Given the description of an element on the screen output the (x, y) to click on. 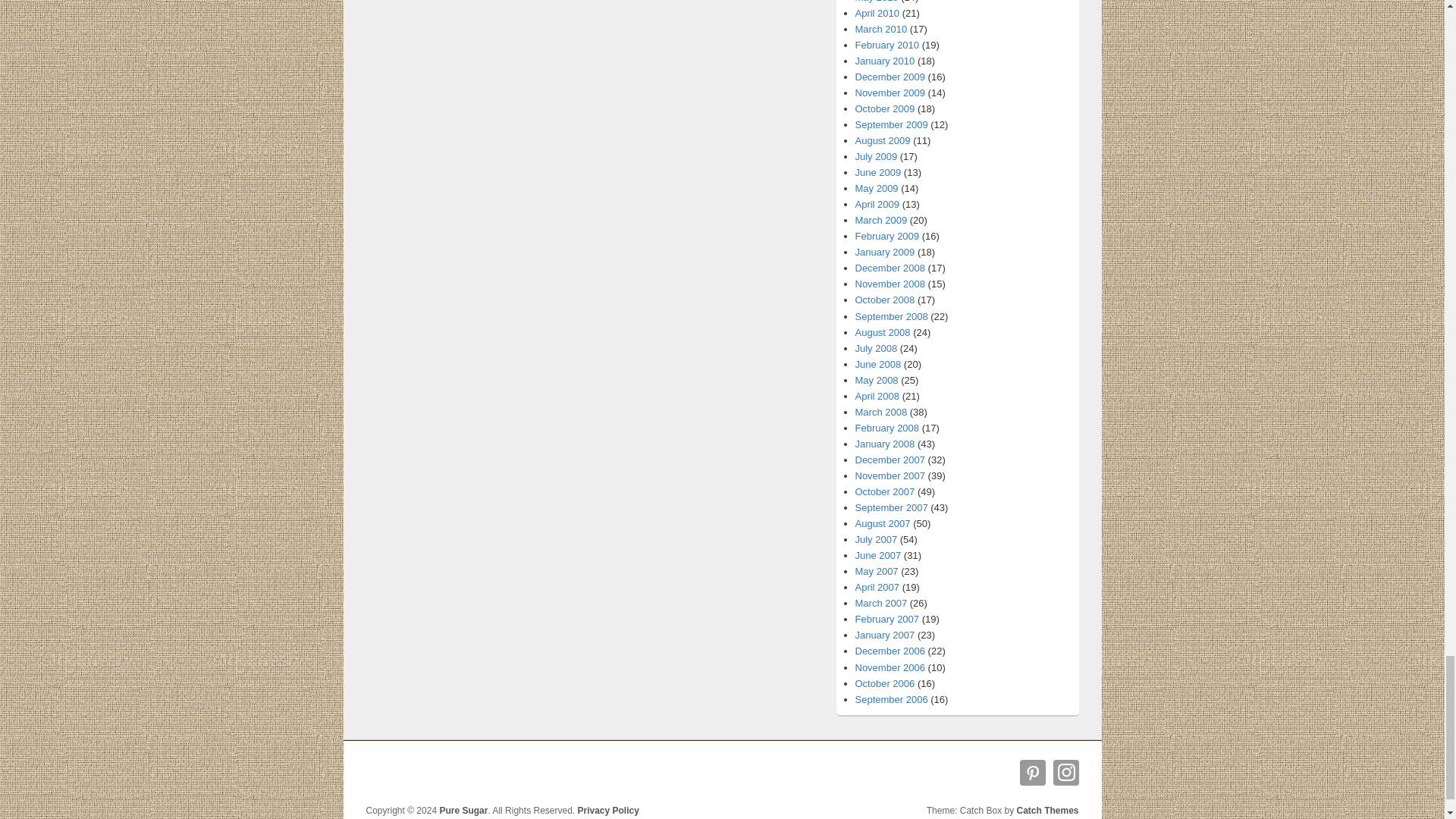
Pure Sugar (463, 810)
Catch Themes (1047, 810)
